Given the description of an element on the screen output the (x, y) to click on. 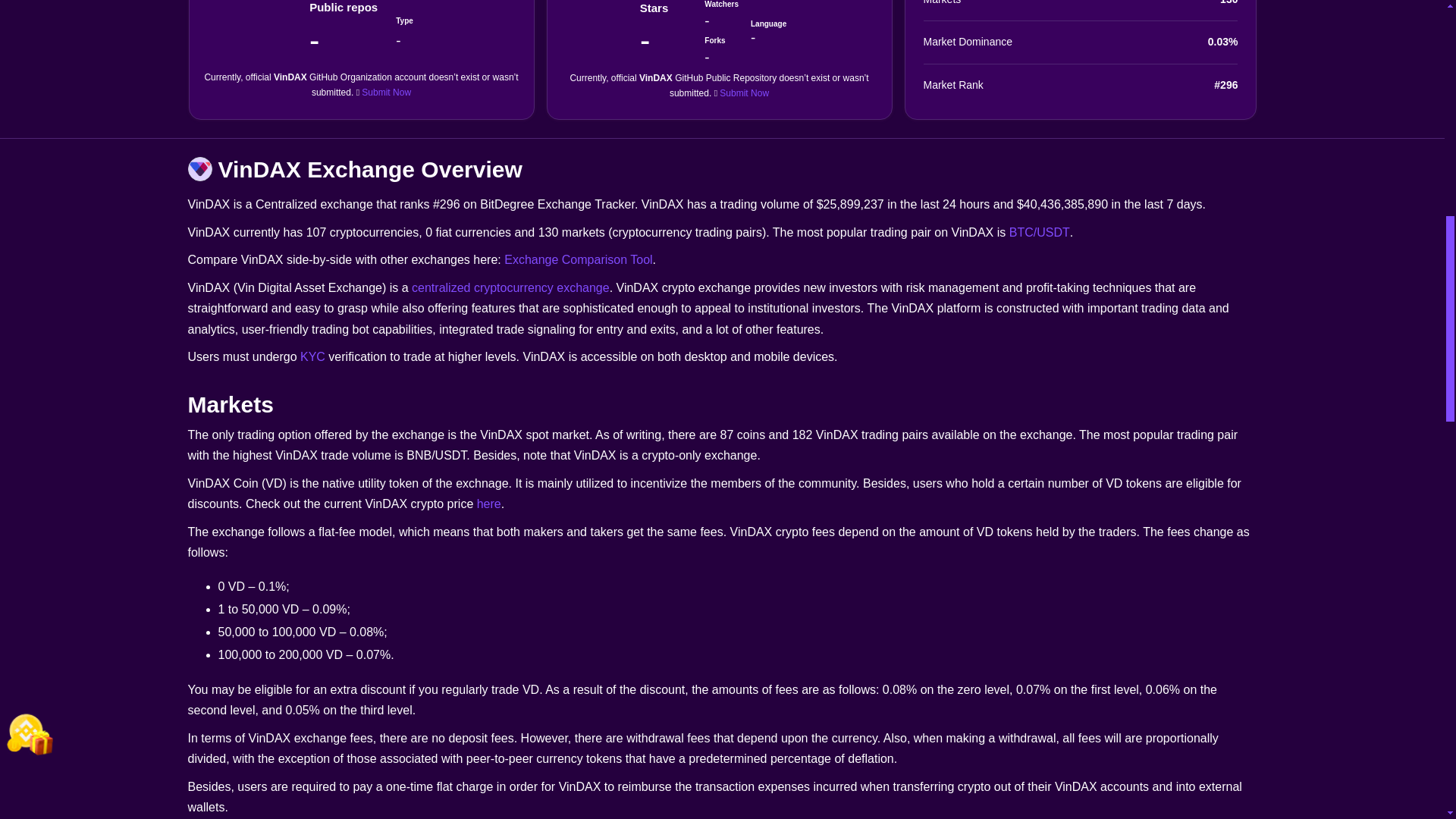
VinDAX Exchange (199, 168)
Submit Now (385, 91)
Submit Now (743, 92)
